Given the description of an element on the screen output the (x, y) to click on. 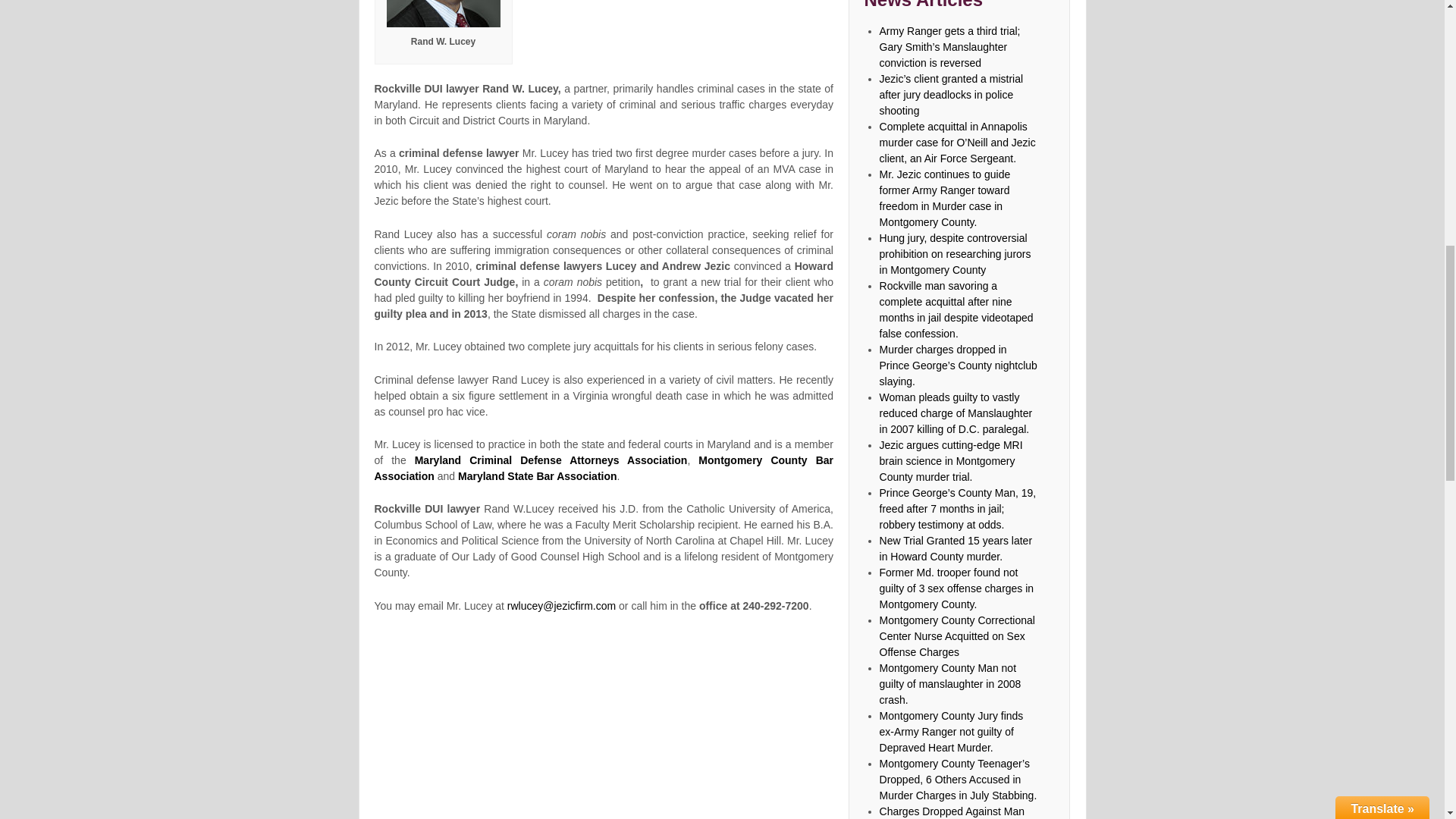
criminal defense lawyer (537, 476)
Maryland dui attorney (718, 2)
criminal defense lawyer (603, 468)
criminal defense lawyer (550, 460)
Rockville criminal attorney (443, 13)
